Given the description of an element on the screen output the (x, y) to click on. 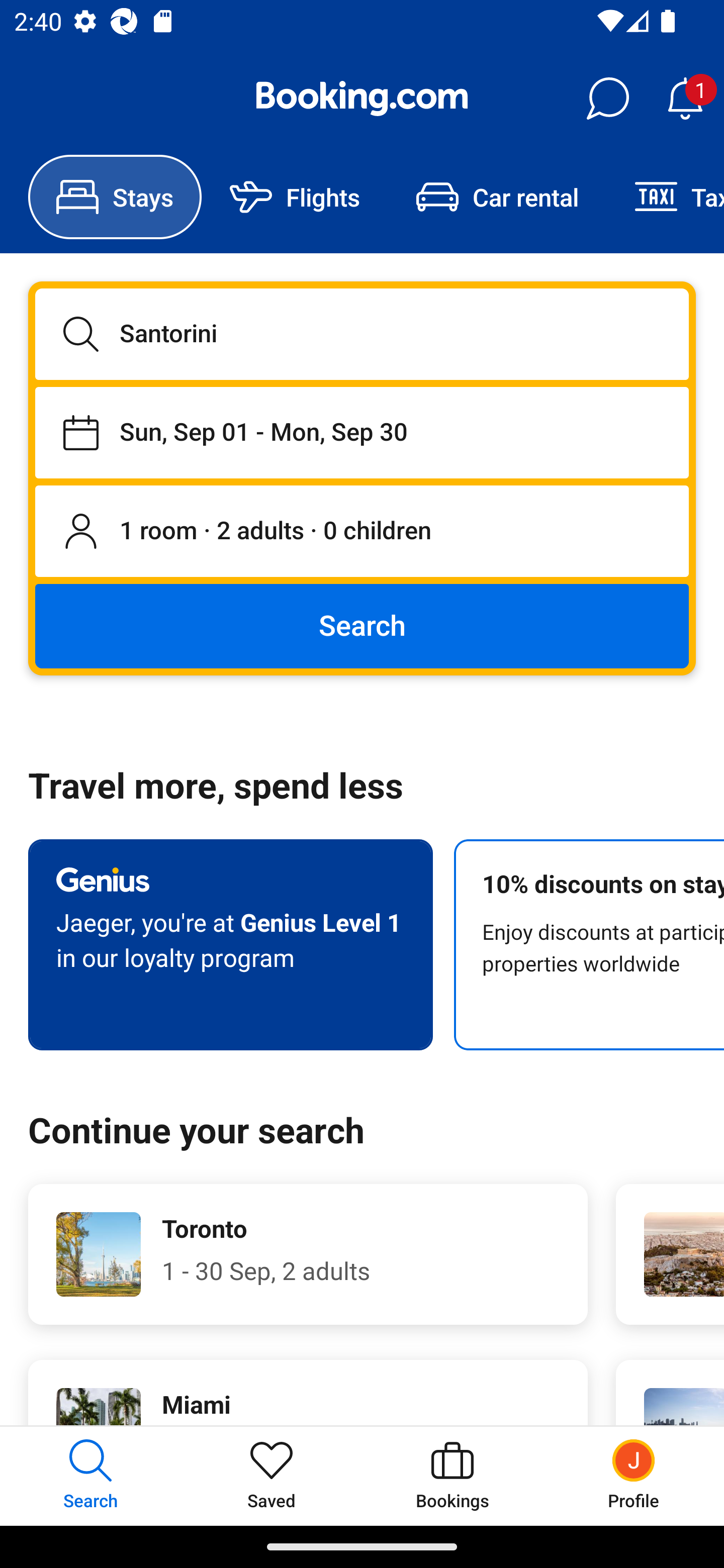
Messages (607, 98)
Notifications (685, 98)
Stays (114, 197)
Flights (294, 197)
Car rental (497, 197)
Taxi (665, 197)
Santorini (361, 333)
Staying from Sun, Sep 01 until Mon, Sep 30 (361, 432)
1 room, 2 adults, 0 children (361, 531)
Search (361, 625)
Toronto 1 - 30 Sep, 2 adults (307, 1253)
Saved (271, 1475)
Bookings (452, 1475)
Profile (633, 1475)
